Given the description of an element on the screen output the (x, y) to click on. 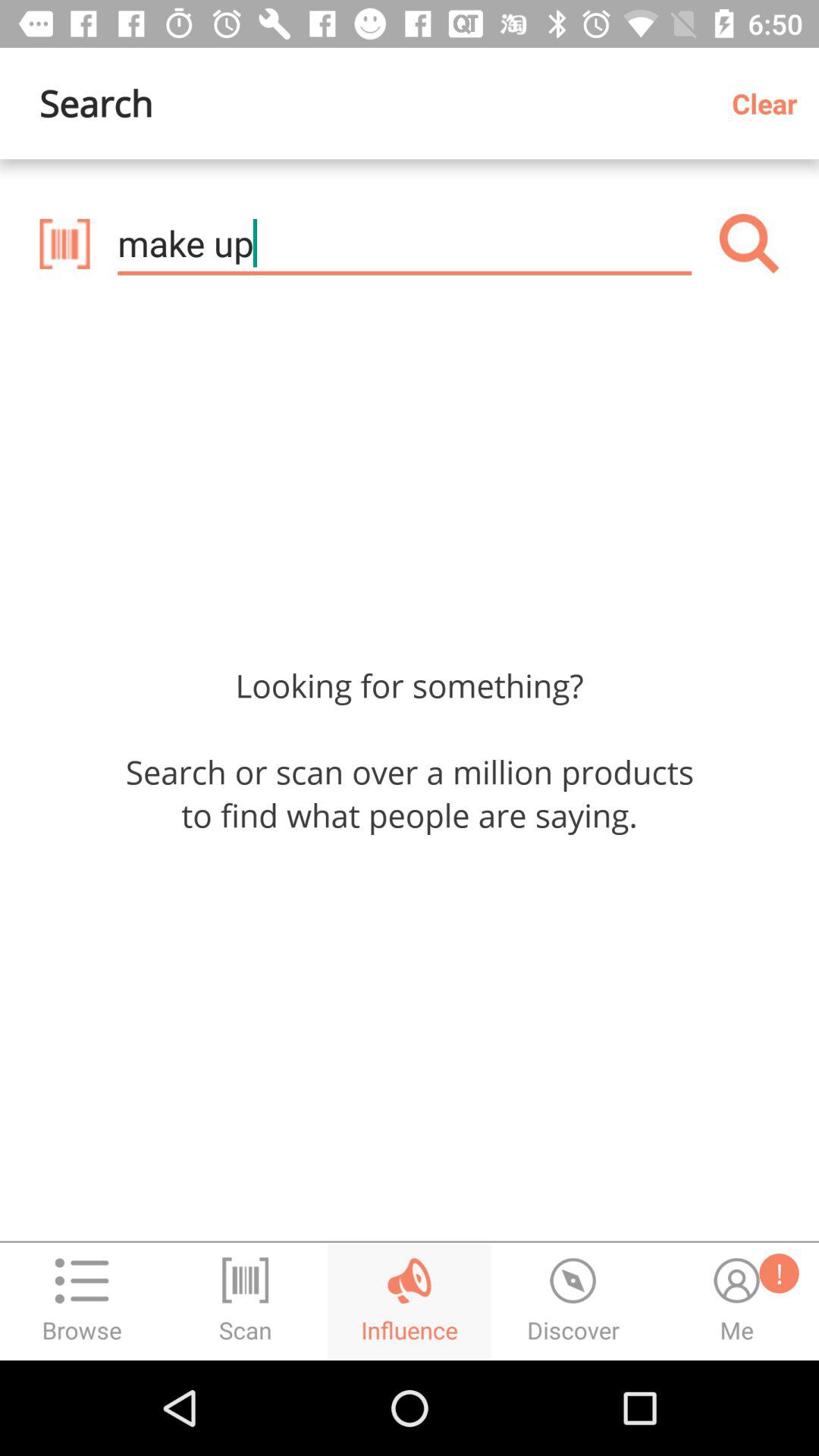
scan product barcode (64, 243)
